Given the description of an element on the screen output the (x, y) to click on. 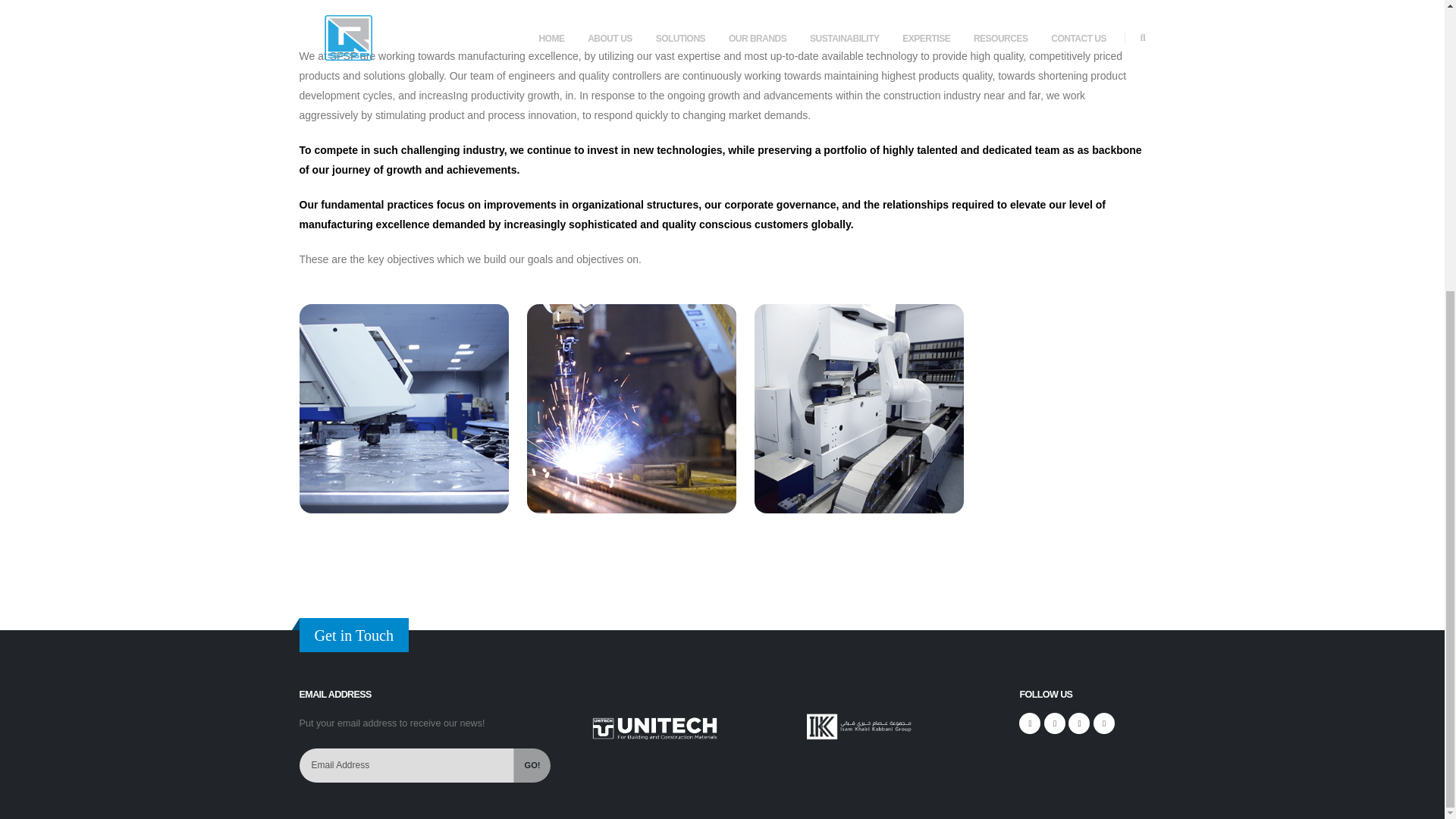
Instagram (1054, 722)
Facebook (1030, 722)
Youtube (1104, 722)
Linkedin (1078, 722)
